Given the description of an element on the screen output the (x, y) to click on. 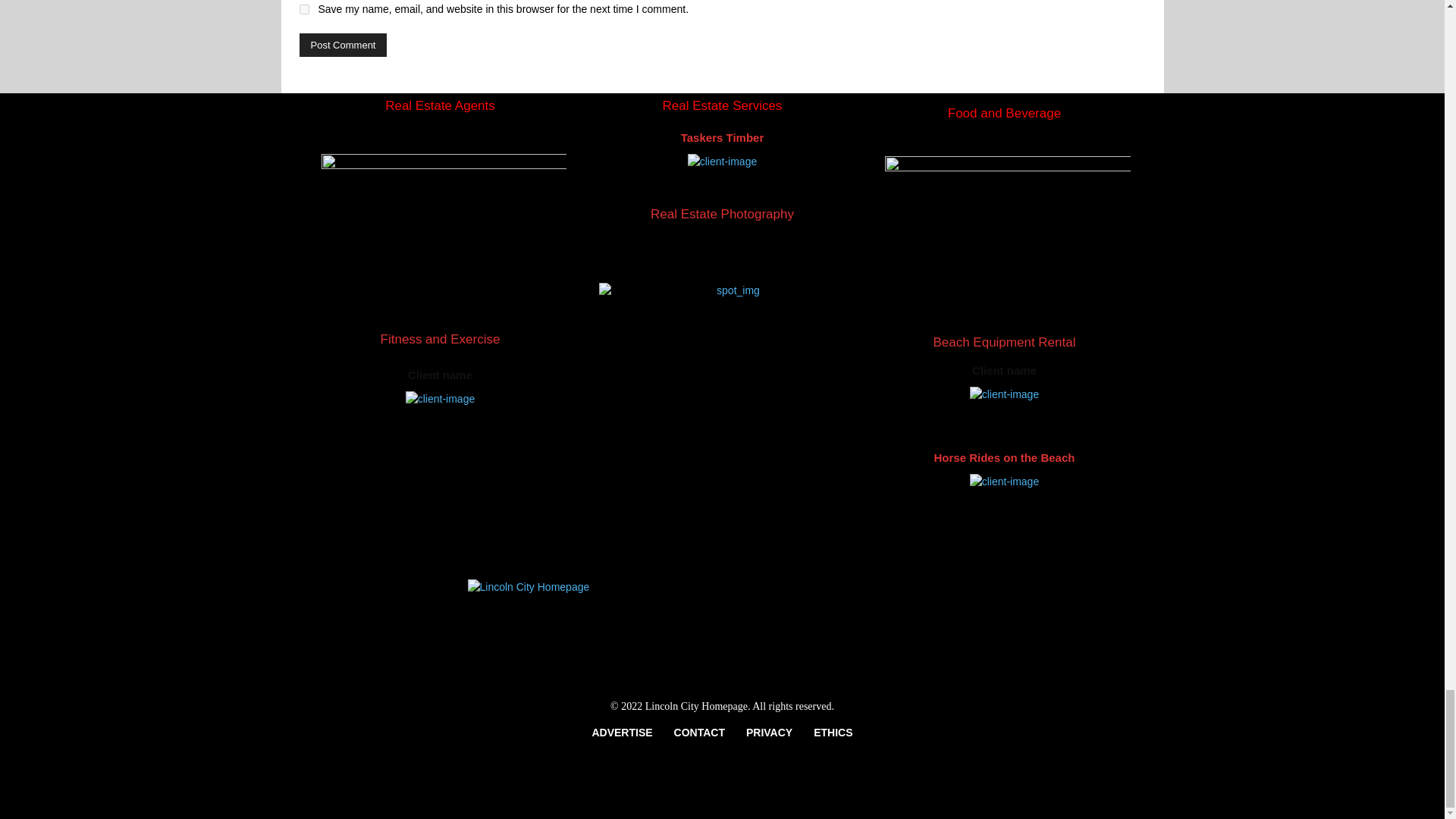
yes (303, 9)
Post Comment (342, 44)
